Given the description of an element on the screen output the (x, y) to click on. 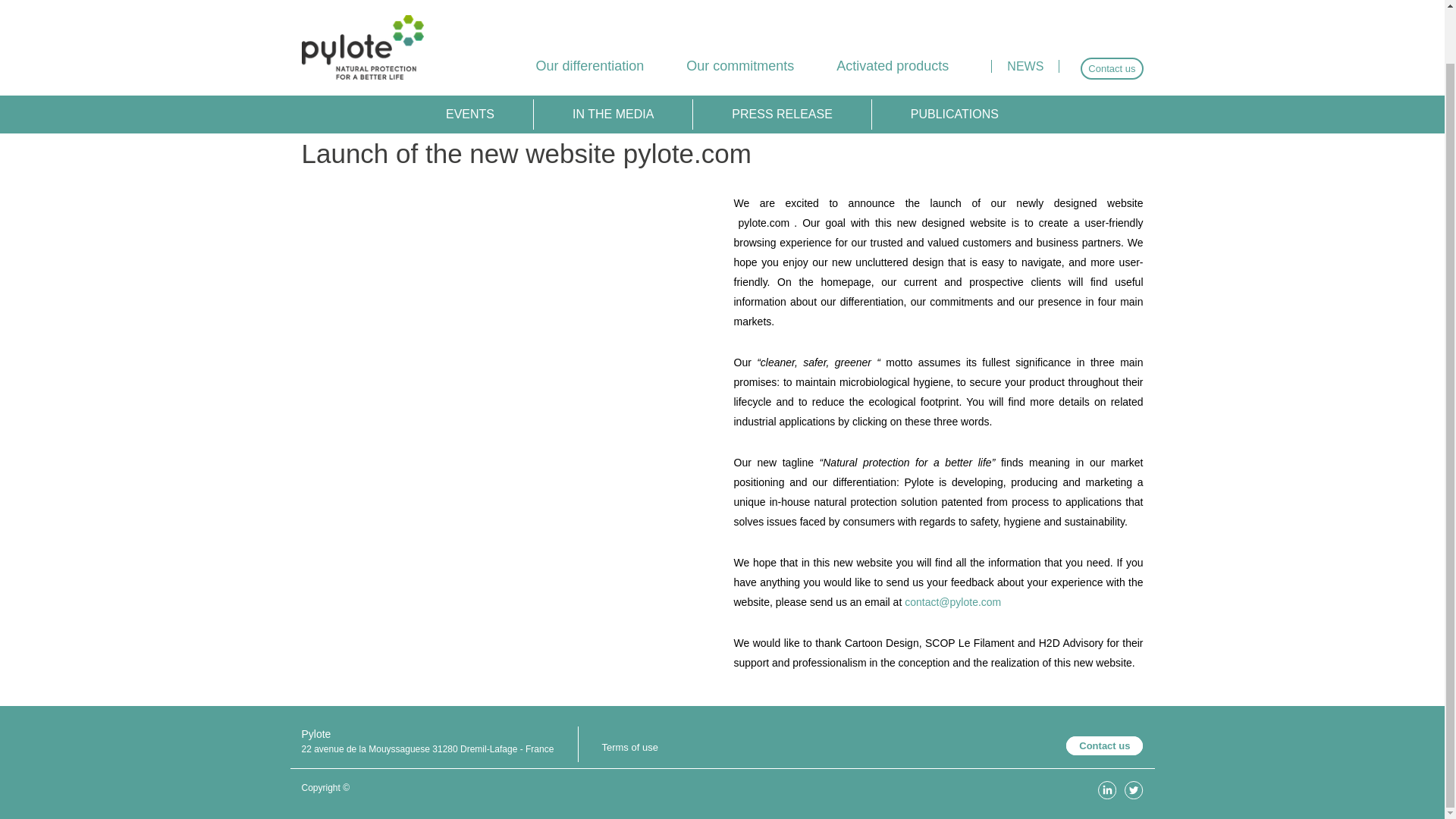
EVENTS (469, 56)
Contact us (1103, 745)
pylote.com (763, 223)
Pylote (362, 11)
IN THE MEDIA (612, 56)
Our commitments (739, 12)
NEWS (1025, 12)
Contact us (1111, 11)
Activated products (892, 12)
PUBLICATIONS (954, 56)
